Given the description of an element on the screen output the (x, y) to click on. 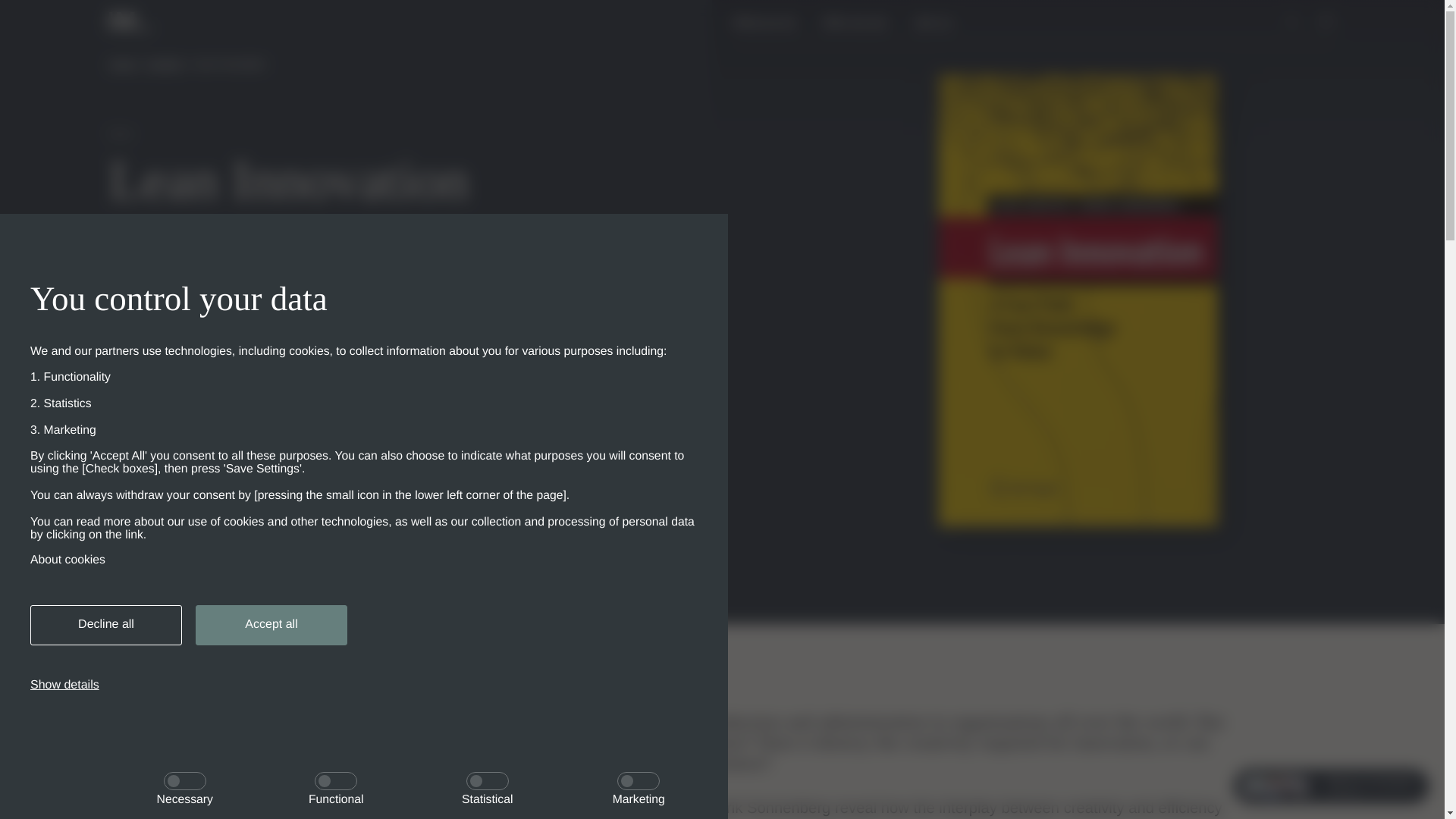
Accept all (271, 625)
About cookies (363, 560)
Decline all (106, 625)
Show details (64, 685)
